Given the description of an element on the screen output the (x, y) to click on. 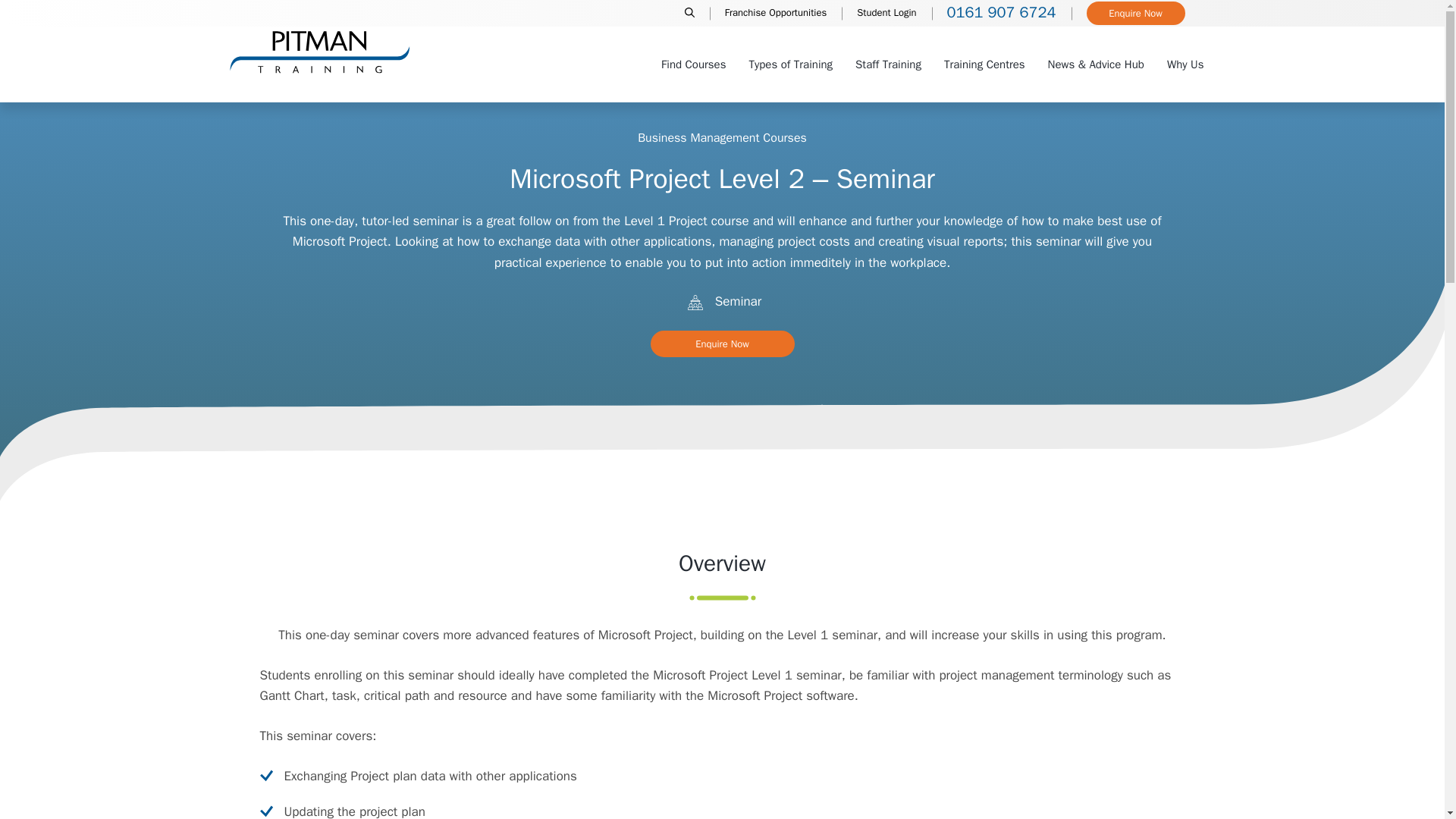
Find Courses (692, 64)
Student Login (886, 13)
Franchise Opportunities (775, 13)
0161 907 6724 (1001, 13)
Enquire Now (1135, 13)
